Given the description of an element on the screen output the (x, y) to click on. 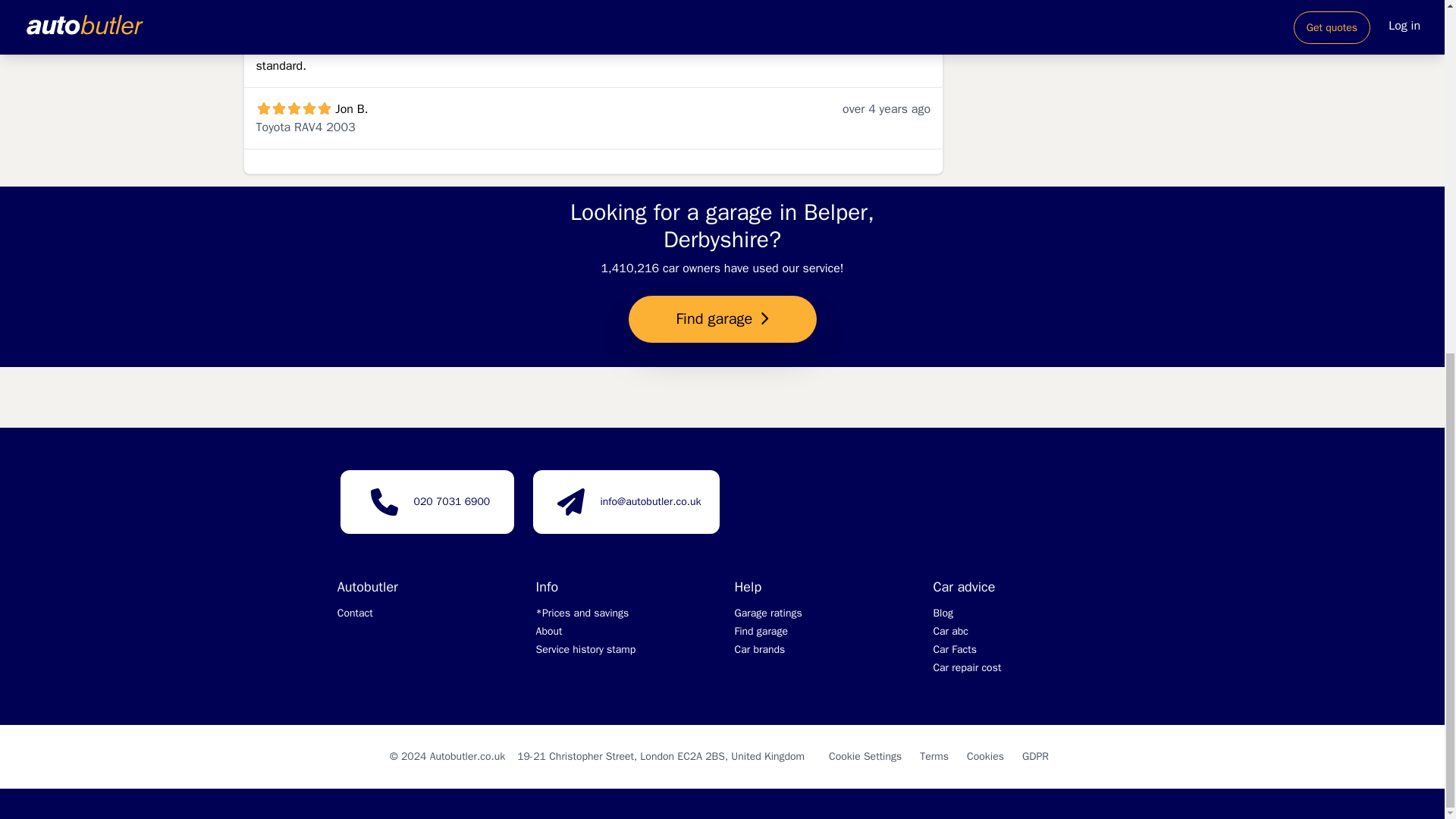
GDPR (1035, 756)
Cookies (985, 756)
Service history stamp (585, 649)
Cookie Settings (864, 756)
Car Facts (954, 649)
020 7031 6900 (451, 501)
Blog (943, 612)
About (548, 631)
Find garage (760, 631)
Contact (354, 612)
Find garage (721, 319)
Car repair cost (967, 667)
Garage ratings (767, 612)
Car brands (758, 649)
Terms (934, 756)
